Given the description of an element on the screen output the (x, y) to click on. 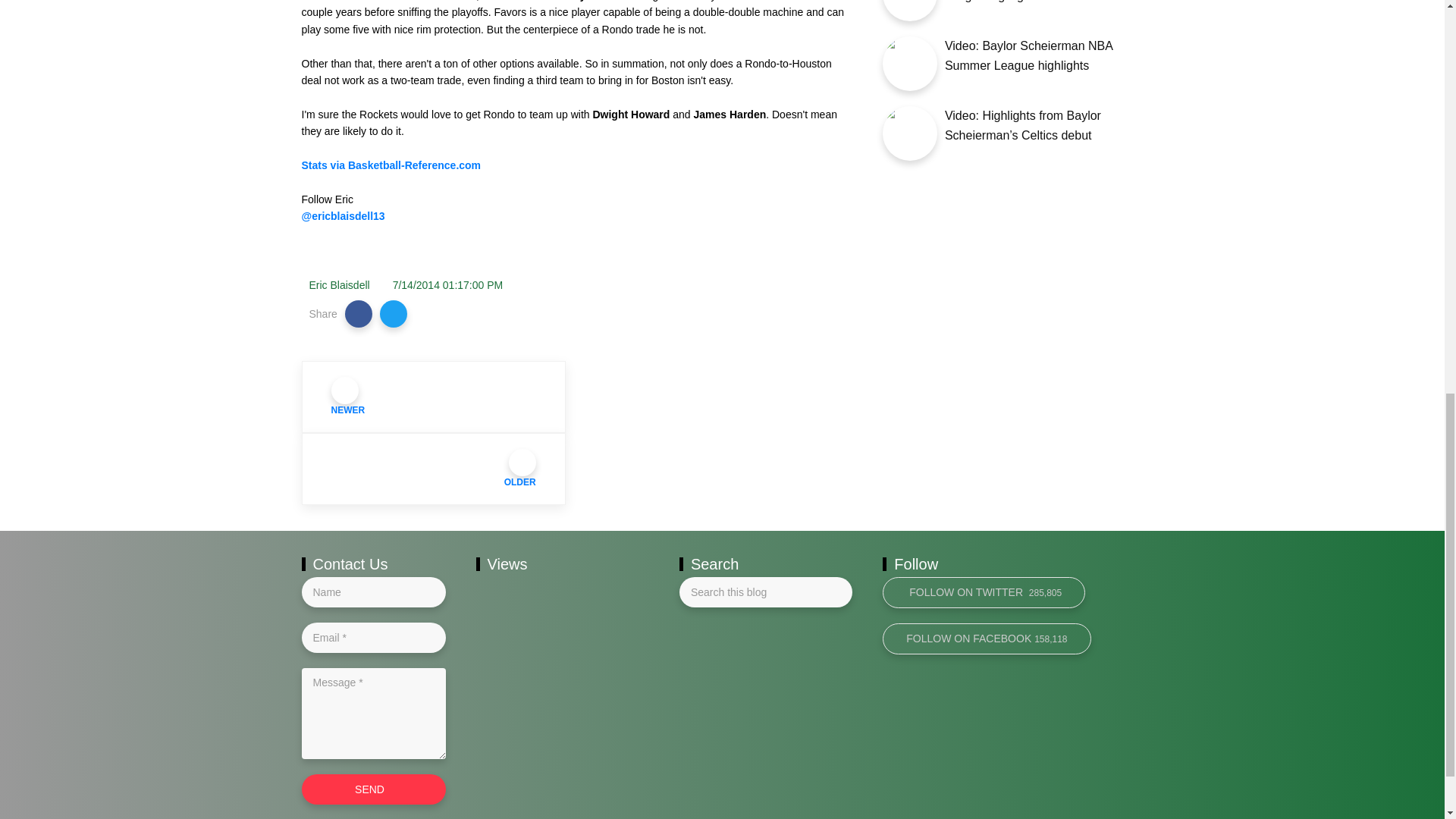
permanent link (448, 285)
Share to Twitter (393, 313)
Share to Facebook (358, 313)
NEWER (433, 397)
author profile (338, 285)
OLDER (433, 469)
Stats via Basketball-Reference.com (391, 164)
Eric Blaisdell (338, 285)
